Given the description of an element on the screen output the (x, y) to click on. 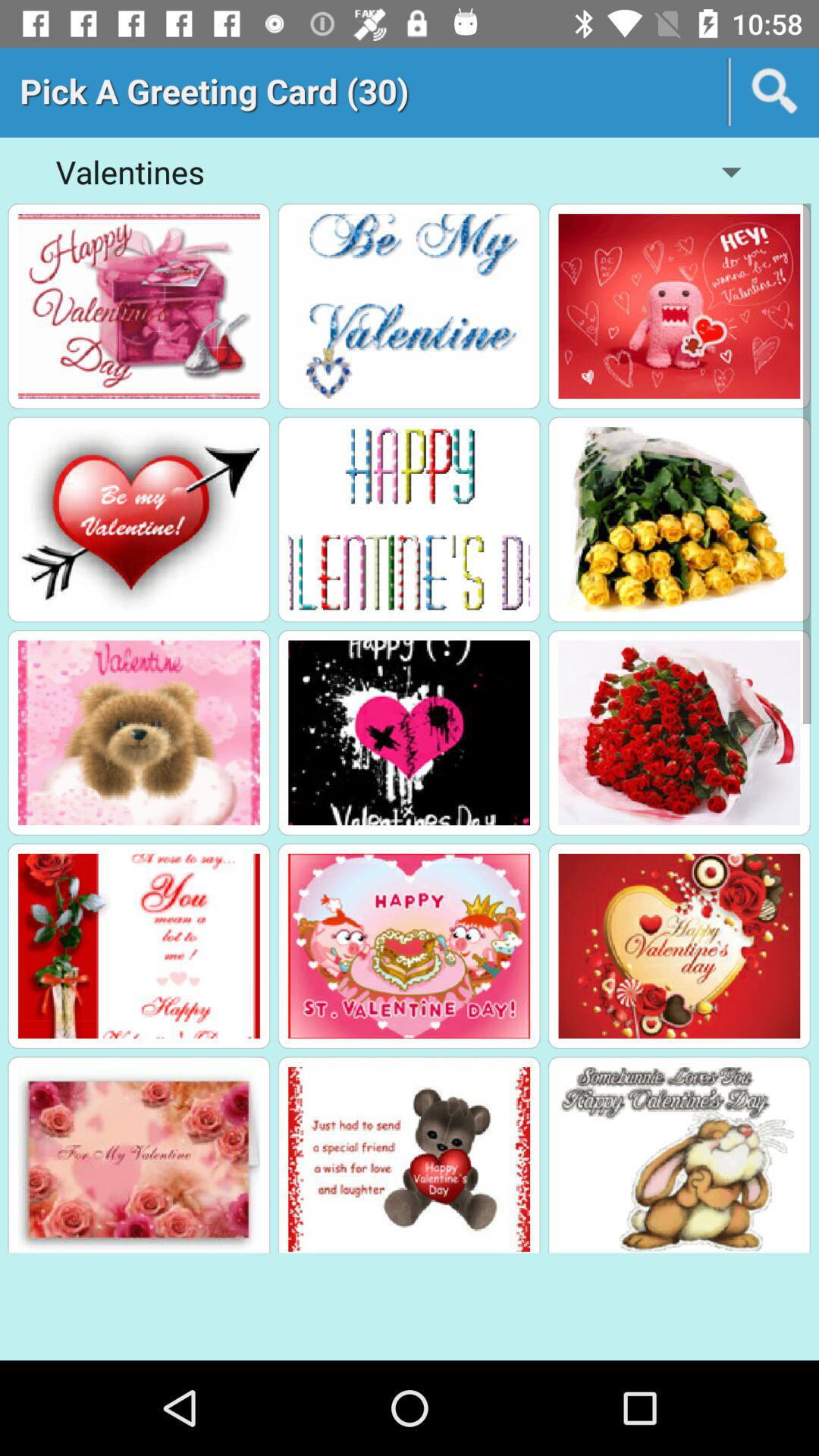
click to view teddy card (409, 1158)
